Given the description of an element on the screen output the (x, y) to click on. 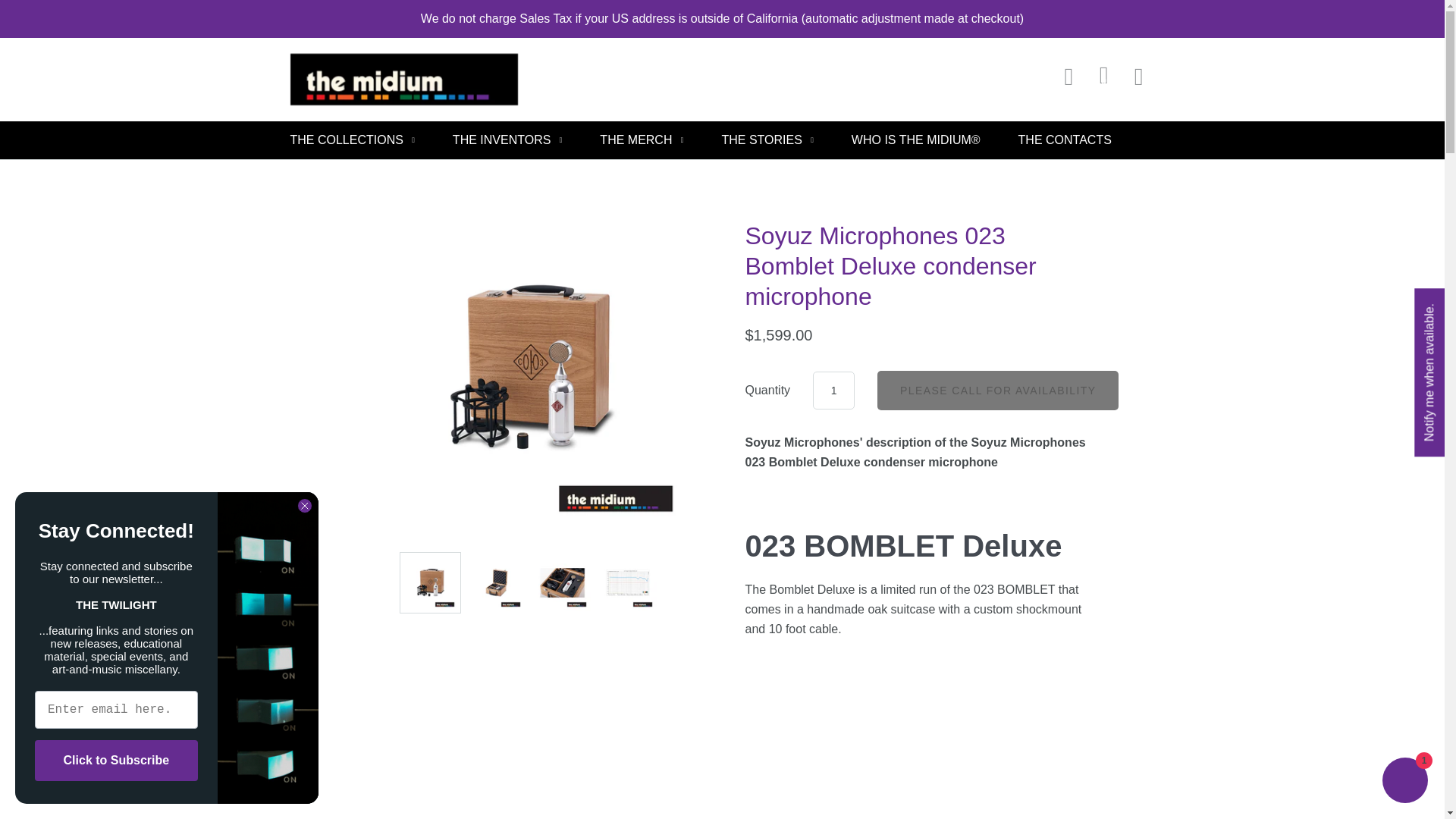
Please call for availability (997, 389)
1 (833, 390)
YouTube video player (915, 755)
THE COLLECTIONS (351, 139)
Shopify online store chat (1404, 781)
THE INVENTORS (507, 139)
